Given the description of an element on the screen output the (x, y) to click on. 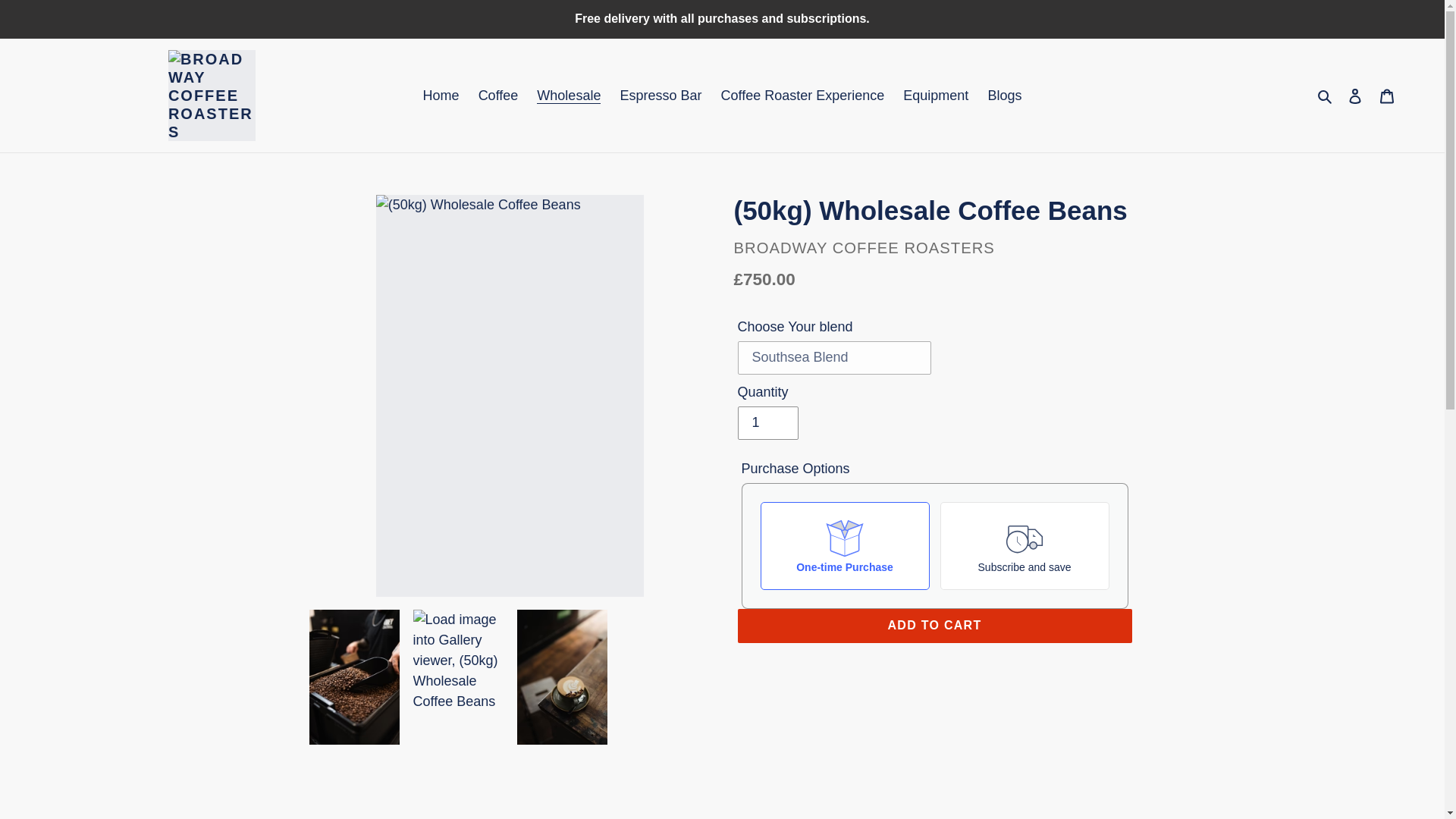
Coffee Roaster Experience (802, 95)
ADD TO CART (933, 625)
Log in (1355, 94)
Search (1326, 96)
Blogs (1004, 95)
Free delivery with all purchases and subscriptions. (721, 18)
Wholesale (568, 95)
Coffee (497, 95)
1 (766, 422)
Home (440, 95)
